Given the description of an element on the screen output the (x, y) to click on. 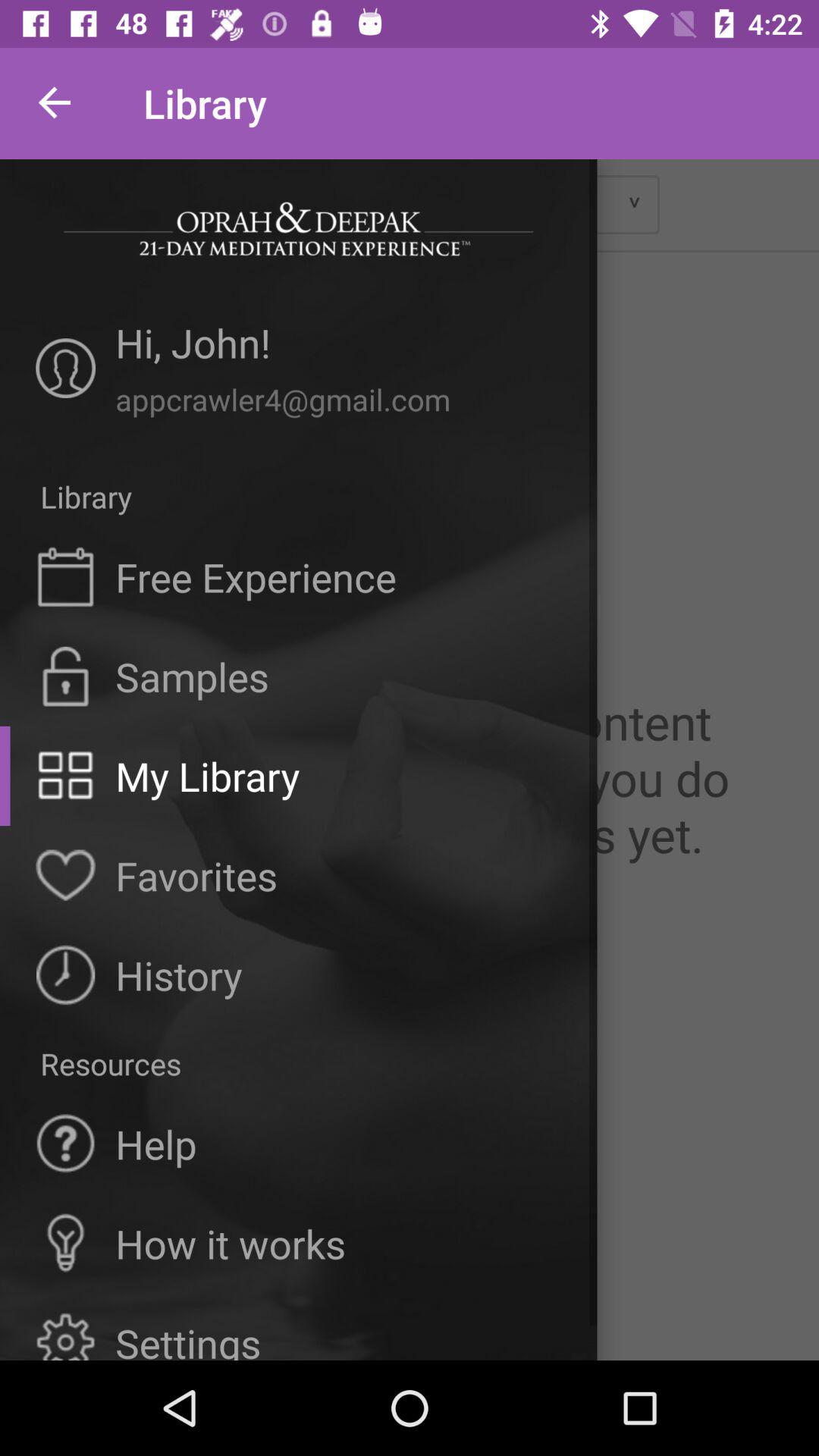
jump to the favorites icon (196, 875)
